Given the description of an element on the screen output the (x, y) to click on. 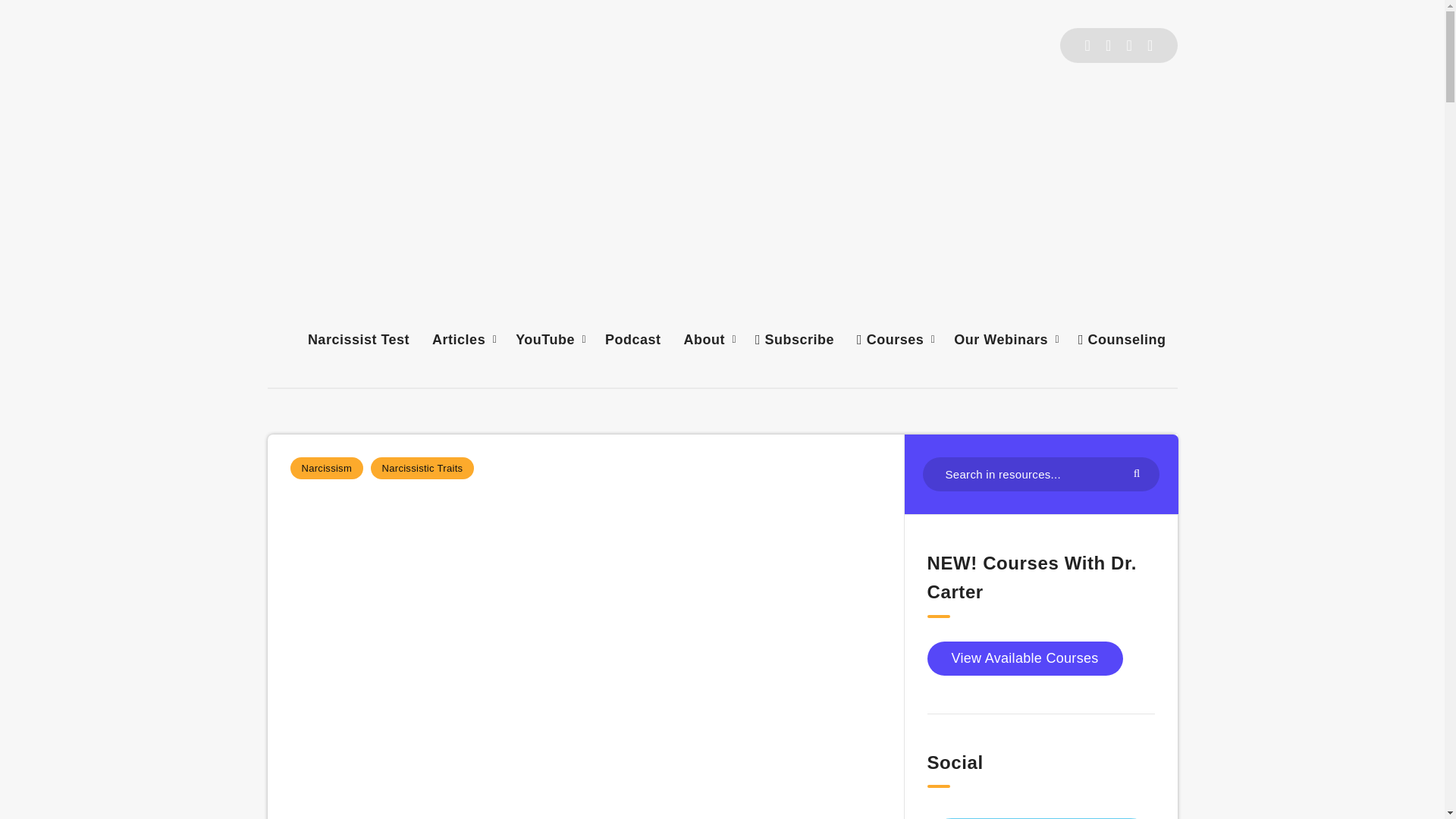
About (704, 339)
Courses (890, 339)
Narcissistic Traits (422, 468)
Subscribe (794, 339)
Articles (458, 339)
Counseling (1122, 339)
Our Webinars (1000, 339)
Podcast (633, 339)
YouTube (545, 339)
Narcissist Test (358, 339)
Narcissism (325, 468)
